Given the description of an element on the screen output the (x, y) to click on. 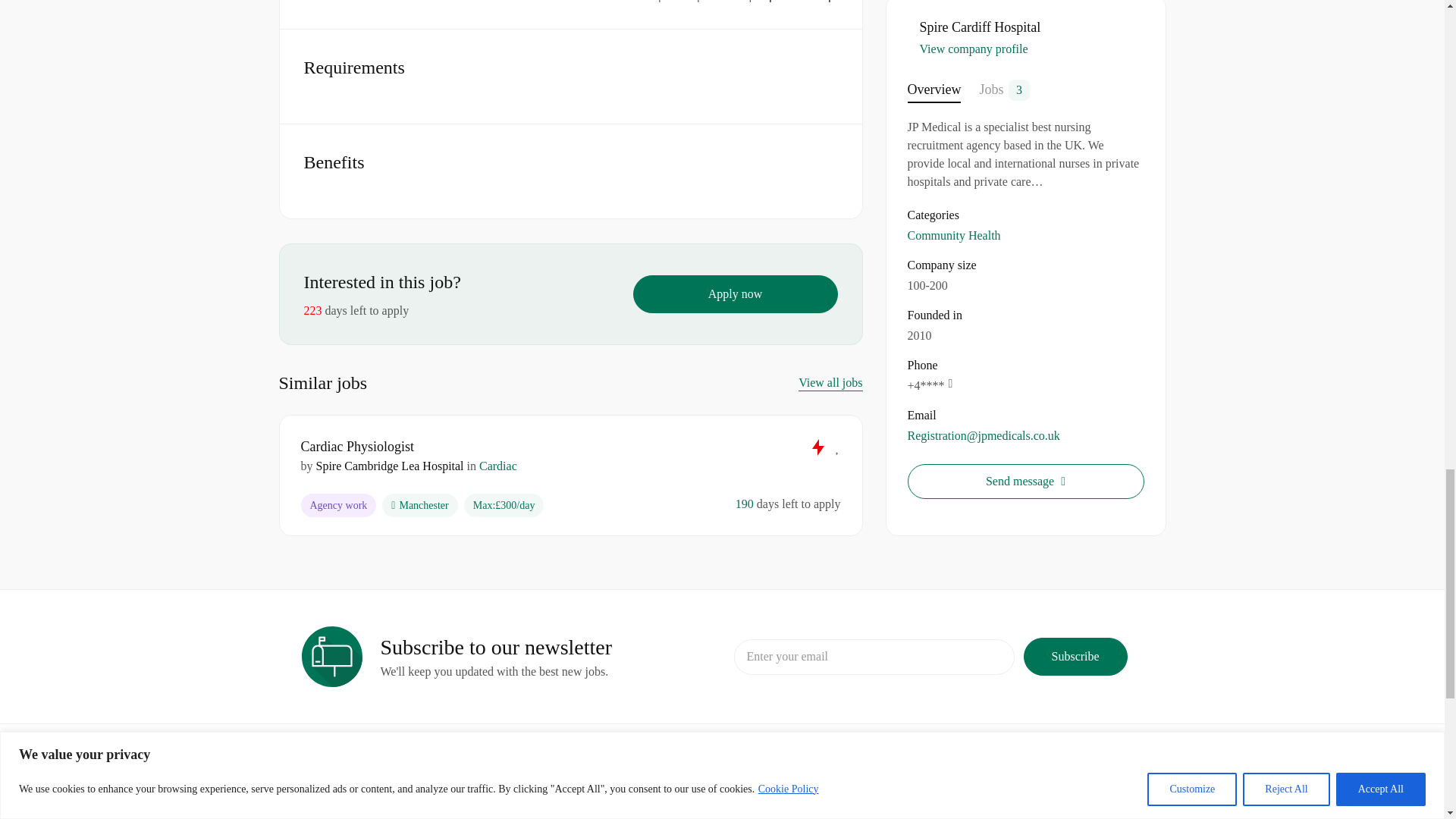
Subscribe (1074, 656)
Map feedback (795, 1)
OpenStreetMap (717, 1)
Mapbox (657, 1)
